Given the description of an element on the screen output the (x, y) to click on. 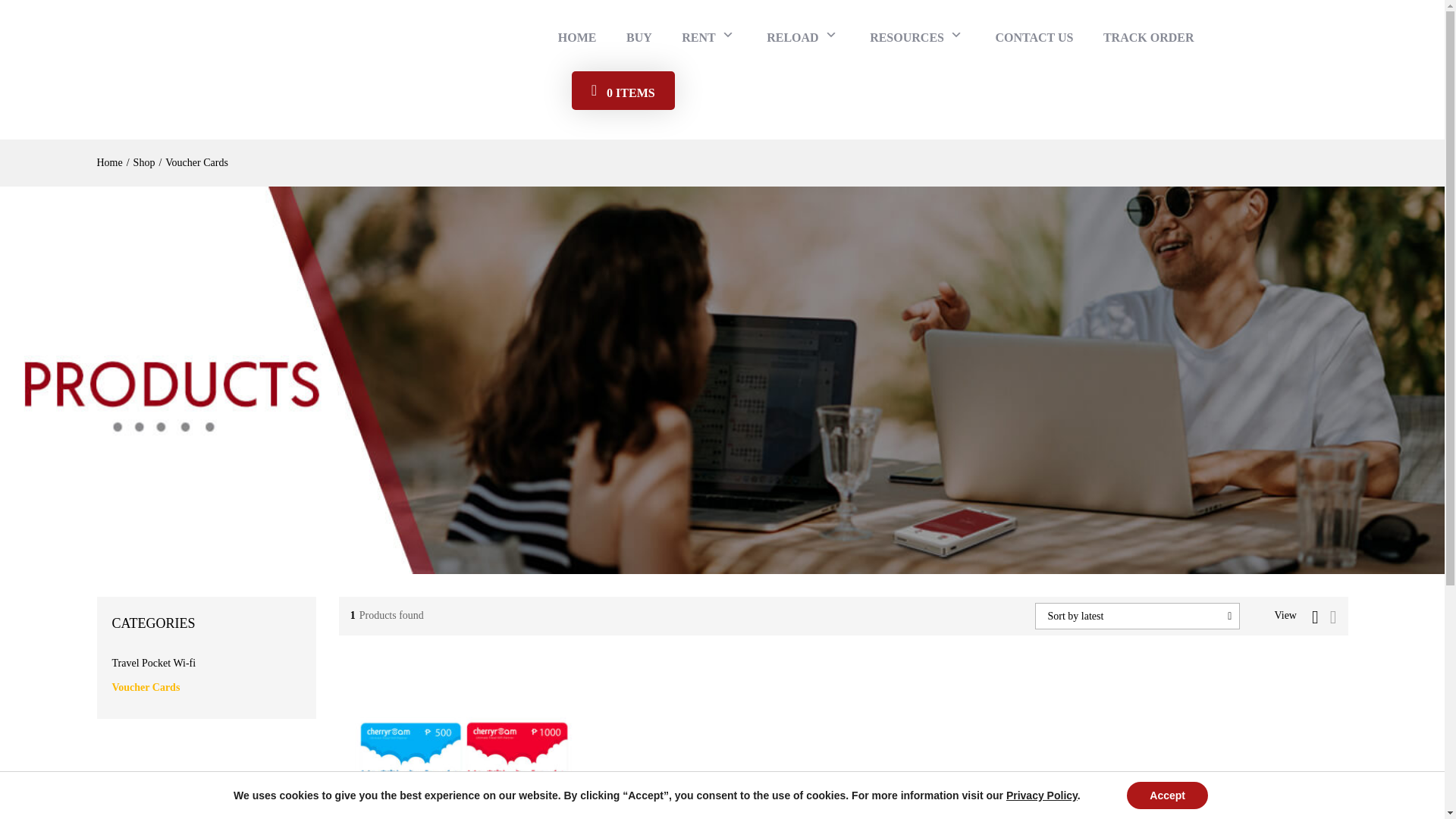
Sort by average rating (1184, 698)
RESOURCES (917, 36)
Sort by price: low to high (1191, 698)
CONTACT US (1033, 37)
0 ITEMS (623, 90)
Shop (144, 162)
TRACK ORDER (1148, 37)
Home (109, 162)
BUY (639, 37)
RENT (708, 36)
Voucher Cards (146, 686)
HOME (576, 37)
Sort by popularity (1175, 698)
Sort by latest (1165, 698)
Travel Pocket Wi-fi (154, 663)
